Given the description of an element on the screen output the (x, y) to click on. 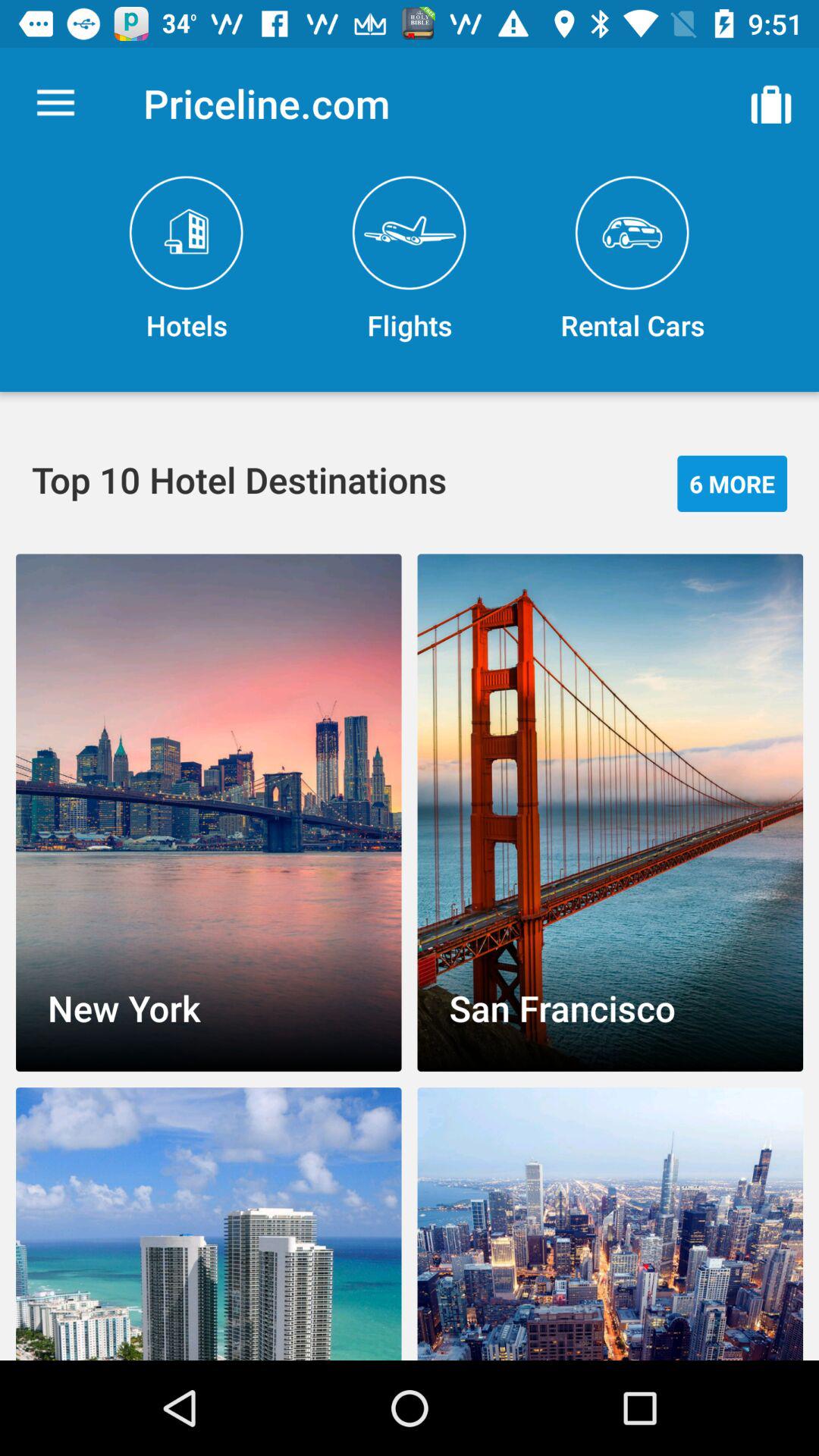
tap icon below priceline.com (409, 259)
